Given the description of an element on the screen output the (x, y) to click on. 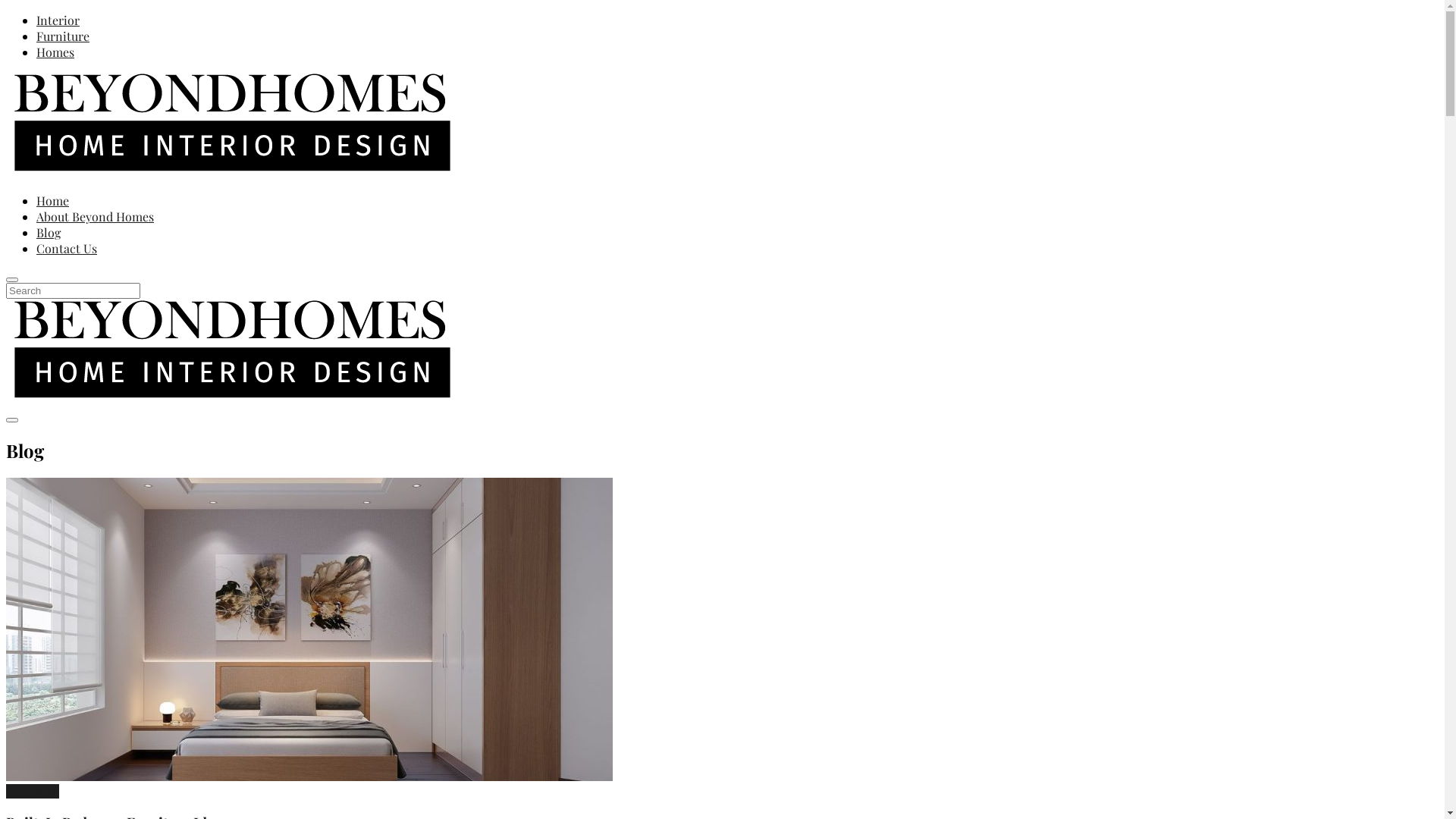
Furniture Element type: text (32, 791)
Furniture Element type: text (62, 35)
About Beyond Homes Element type: text (94, 216)
Blog Element type: text (48, 232)
Interior Element type: text (57, 20)
Contact Us Element type: text (66, 248)
Home Element type: text (52, 200)
Homes Element type: text (55, 51)
